Given the description of an element on the screen output the (x, y) to click on. 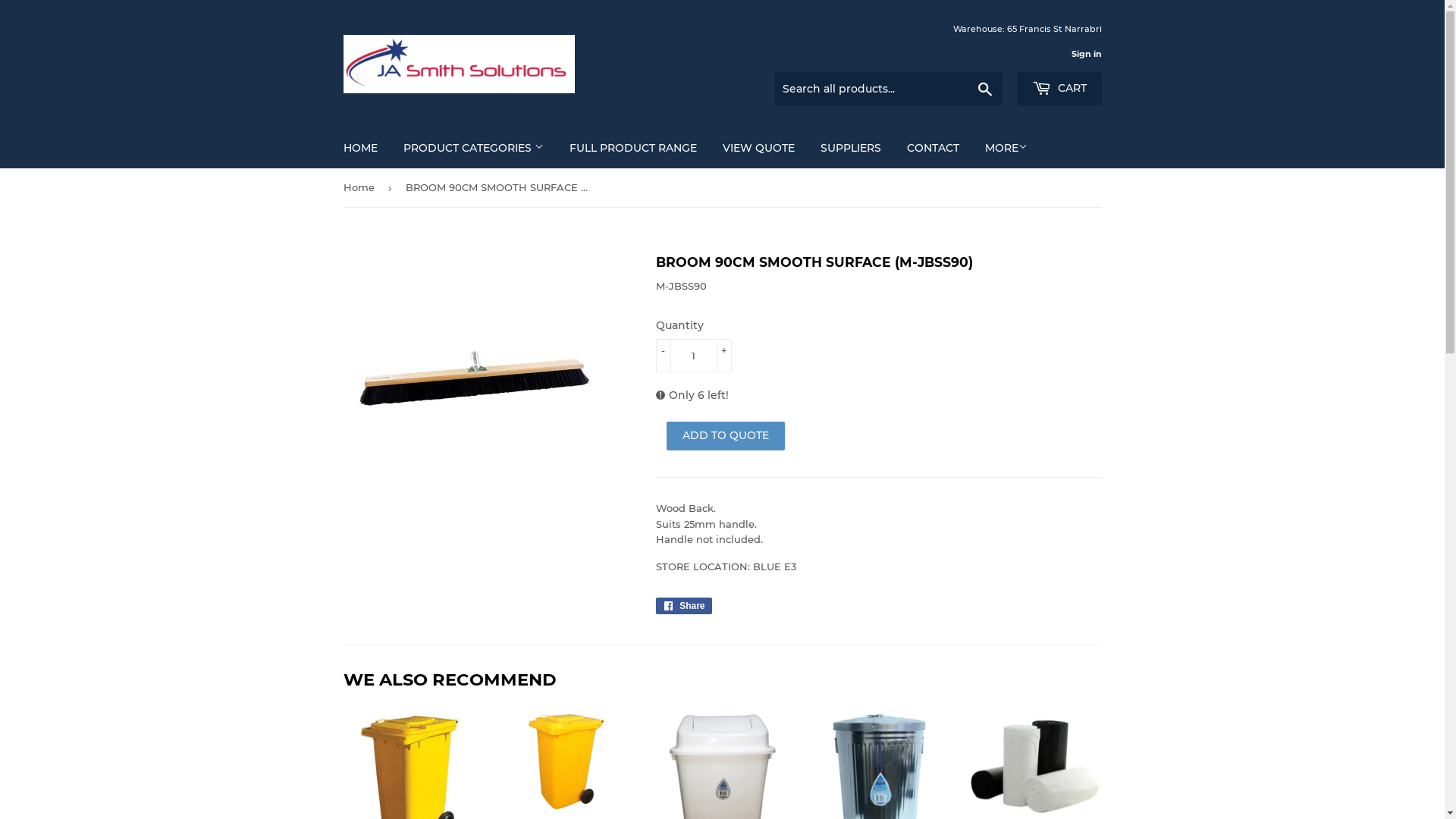
PRODUCT CATEGORIES Element type: text (472, 147)
Sign in Element type: text (1085, 53)
Share
Share on Facebook Element type: text (683, 605)
VIEW QUOTE Element type: text (758, 147)
CART Element type: text (1058, 88)
ADD TO QUOTE Element type: text (724, 435)
FULL PRODUCT RANGE Element type: text (633, 147)
MORE Element type: text (1005, 147)
HOME Element type: text (360, 147)
CONTACT Element type: text (931, 147)
SUPPLIERS Element type: text (849, 147)
Home Element type: text (360, 187)
Search Element type: text (984, 89)
